Given the description of an element on the screen output the (x, y) to click on. 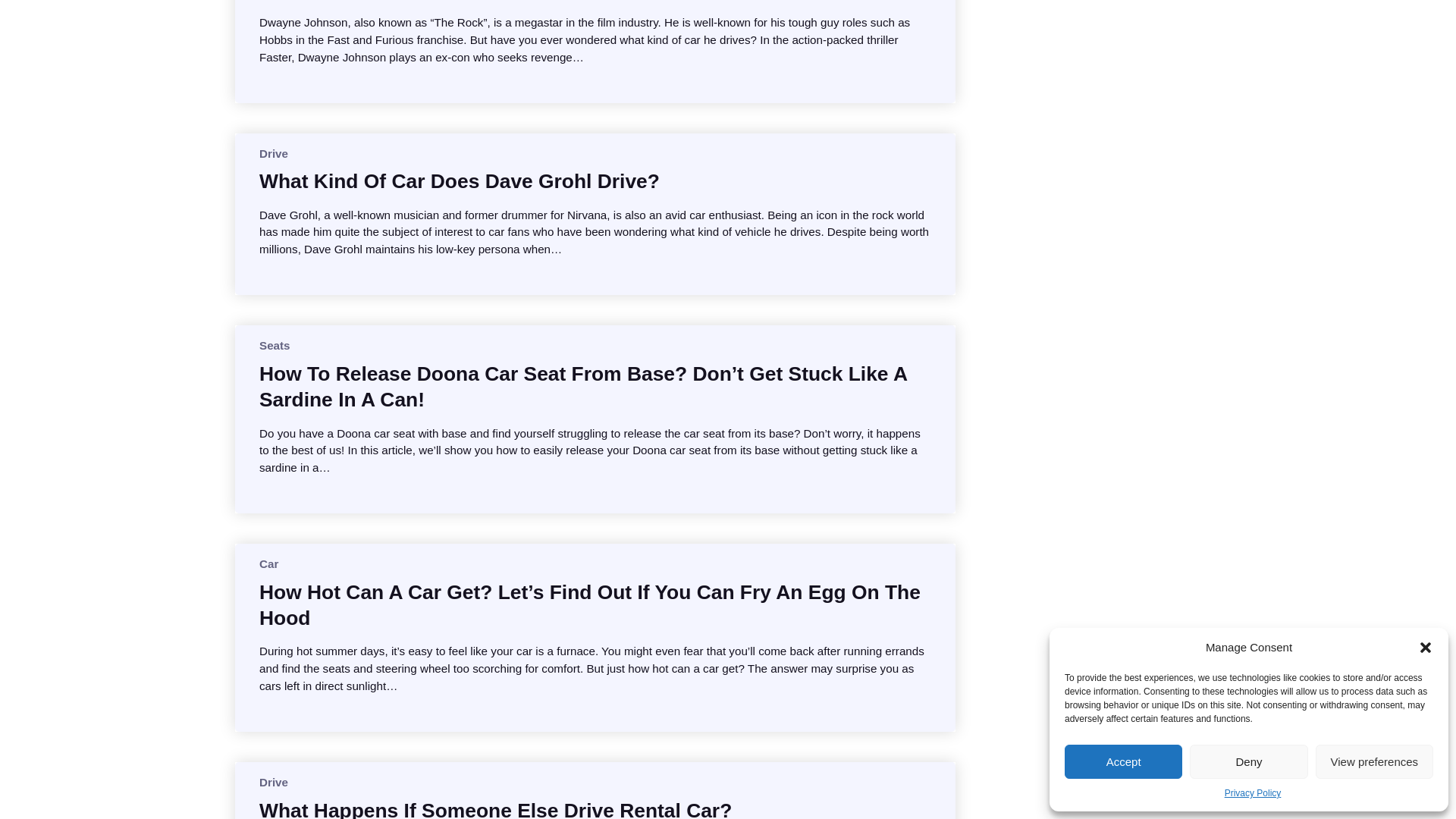
Drive (273, 781)
Car (268, 563)
What Kind Of Car Does Dave Grohl Drive? (459, 181)
Seats (274, 345)
Drive (273, 153)
What Happens If Someone Else Drive Rental Car? (495, 808)
